Given the description of an element on the screen output the (x, y) to click on. 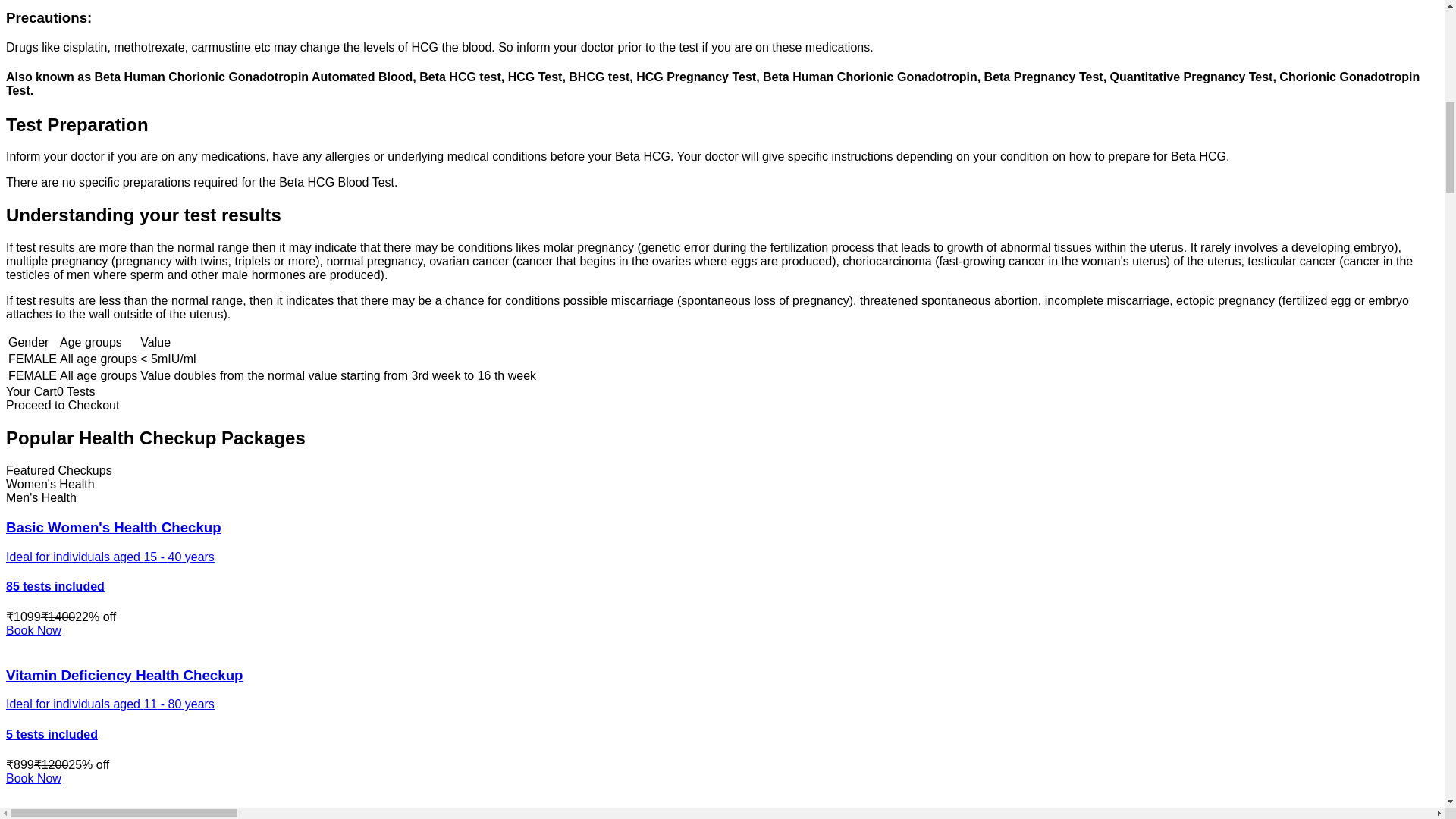
Book Now (33, 630)
Book Now (33, 778)
